Given the description of an element on the screen output the (x, y) to click on. 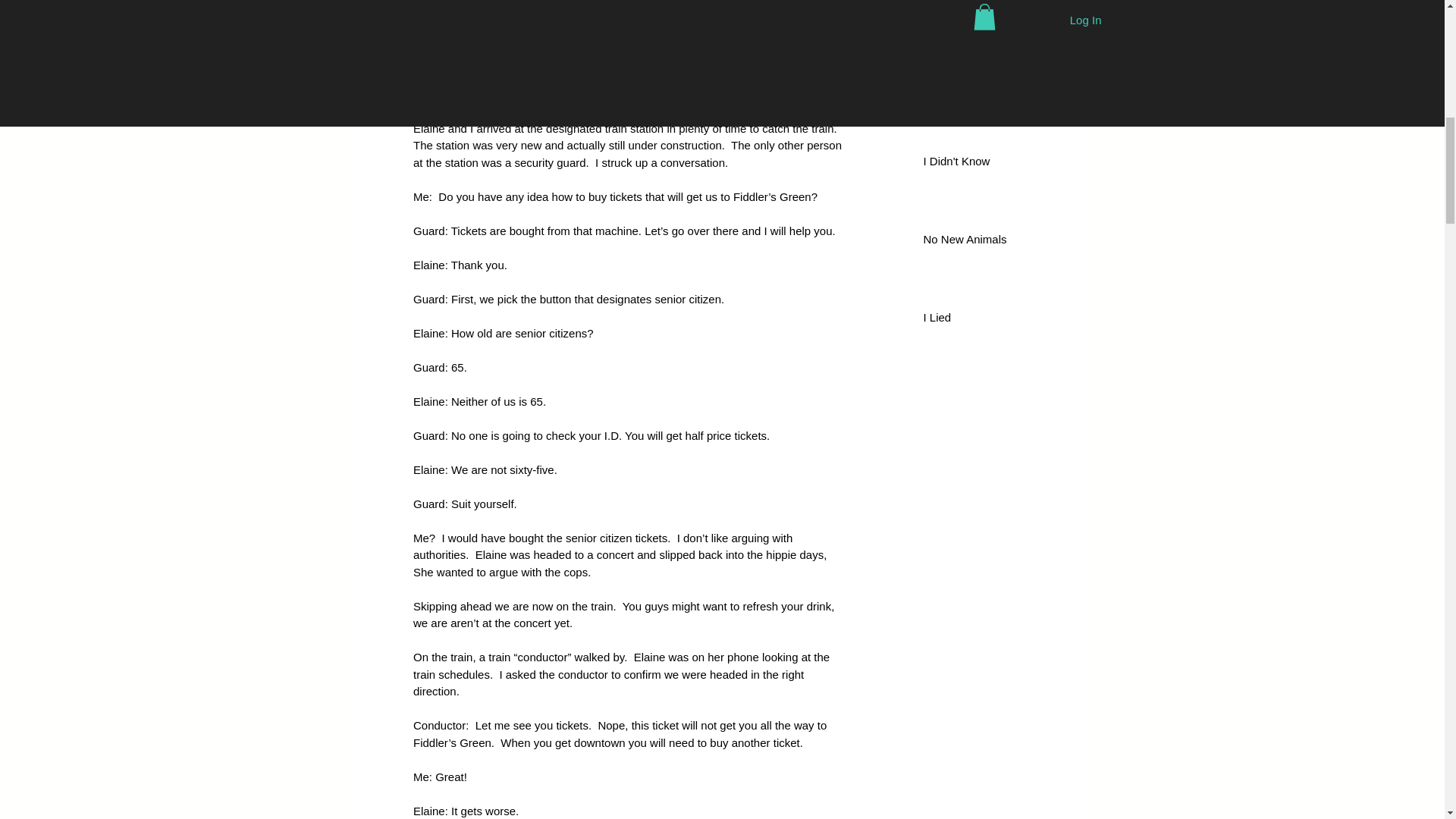
I Lied (992, 320)
Here We Go.....Again (992, 9)
I Didn't Know (992, 164)
No New Animals (992, 241)
